Given the description of an element on the screen output the (x, y) to click on. 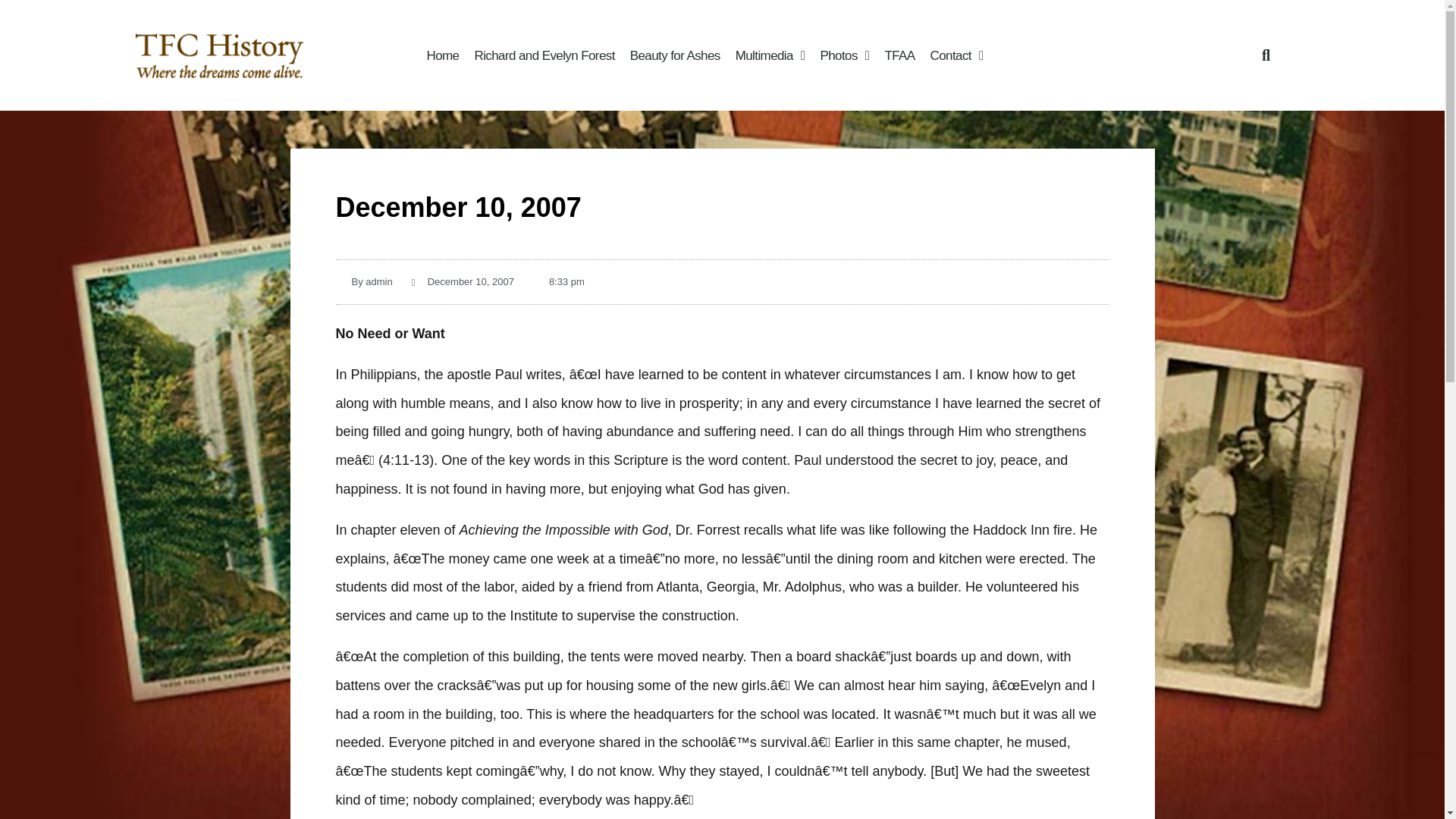
December 10, 2007 (462, 281)
Beauty for Ashes (675, 55)
By admin (362, 281)
Contact (957, 55)
Multimedia (770, 55)
Richard and Evelyn Forest (543, 55)
